Given the description of an element on the screen output the (x, y) to click on. 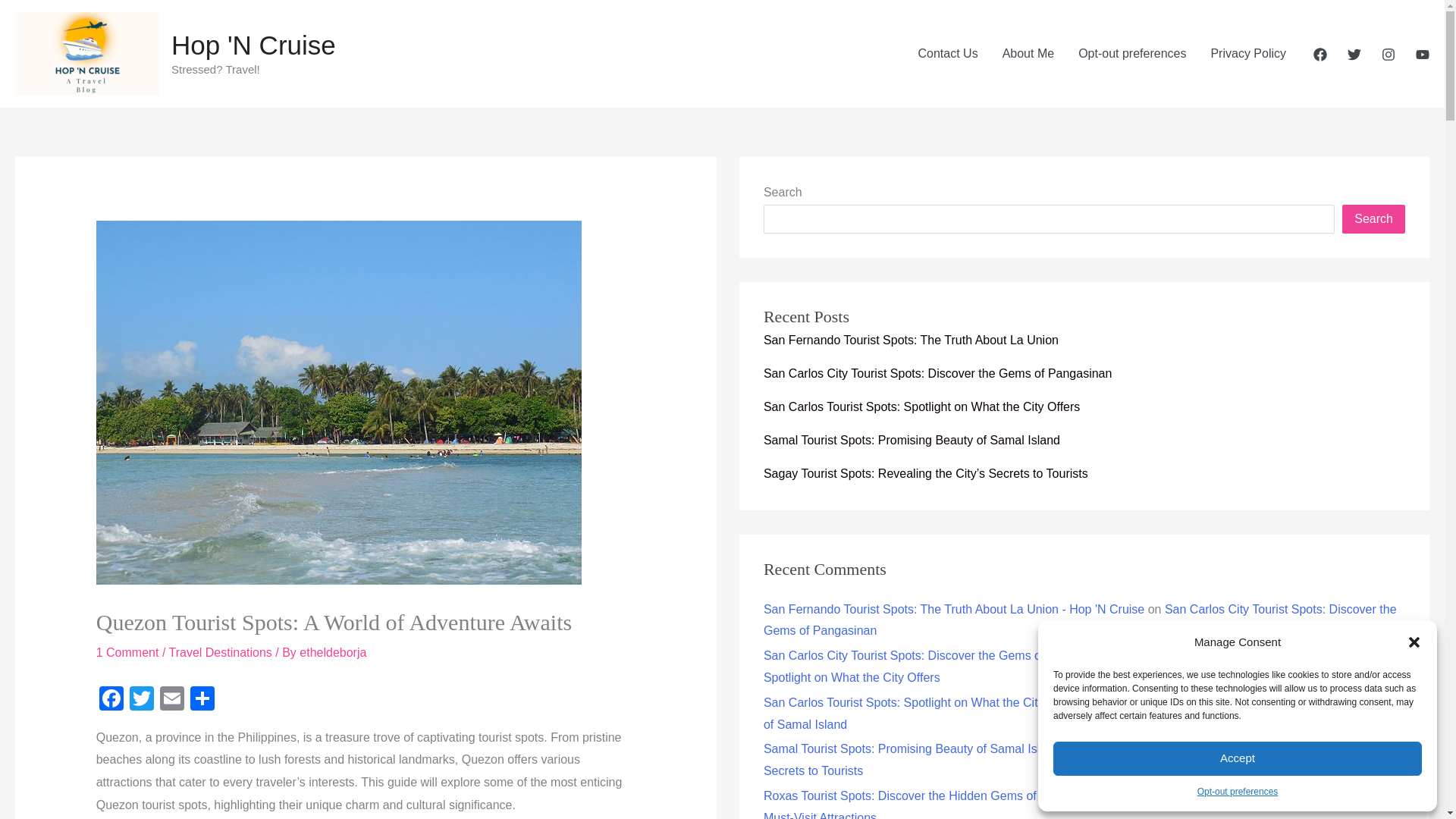
etheldeborja (332, 652)
Accept (1237, 758)
About Me (1027, 53)
Privacy Policy (1248, 53)
Hop 'N Cruise (253, 44)
Facebook (111, 700)
Email (172, 700)
Facebook (111, 700)
View all posts by etheldeborja (332, 652)
Opt-out preferences (1237, 791)
